Given the description of an element on the screen output the (x, y) to click on. 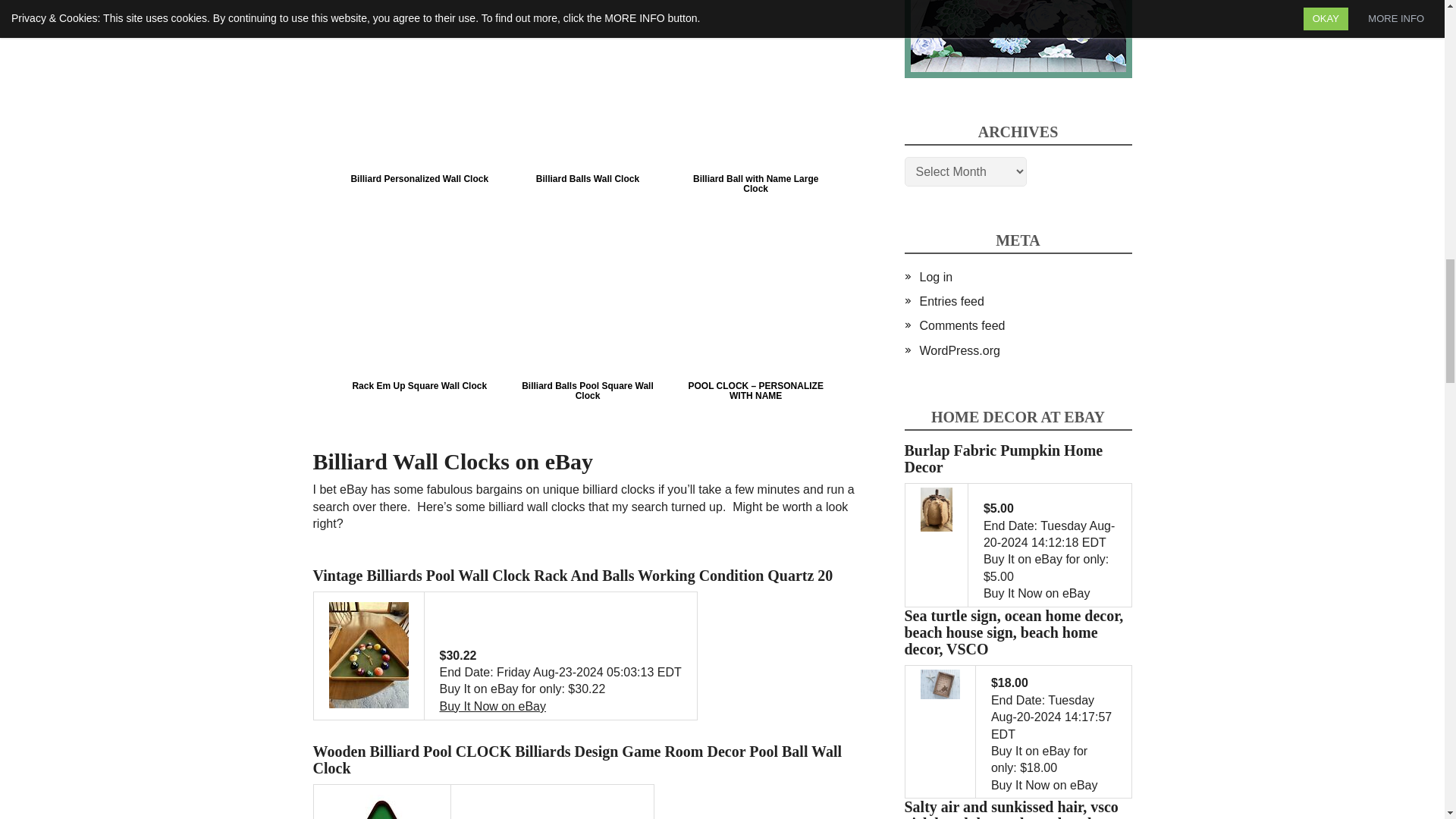
Buy It Now on eBay (493, 706)
